Given the description of an element on the screen output the (x, y) to click on. 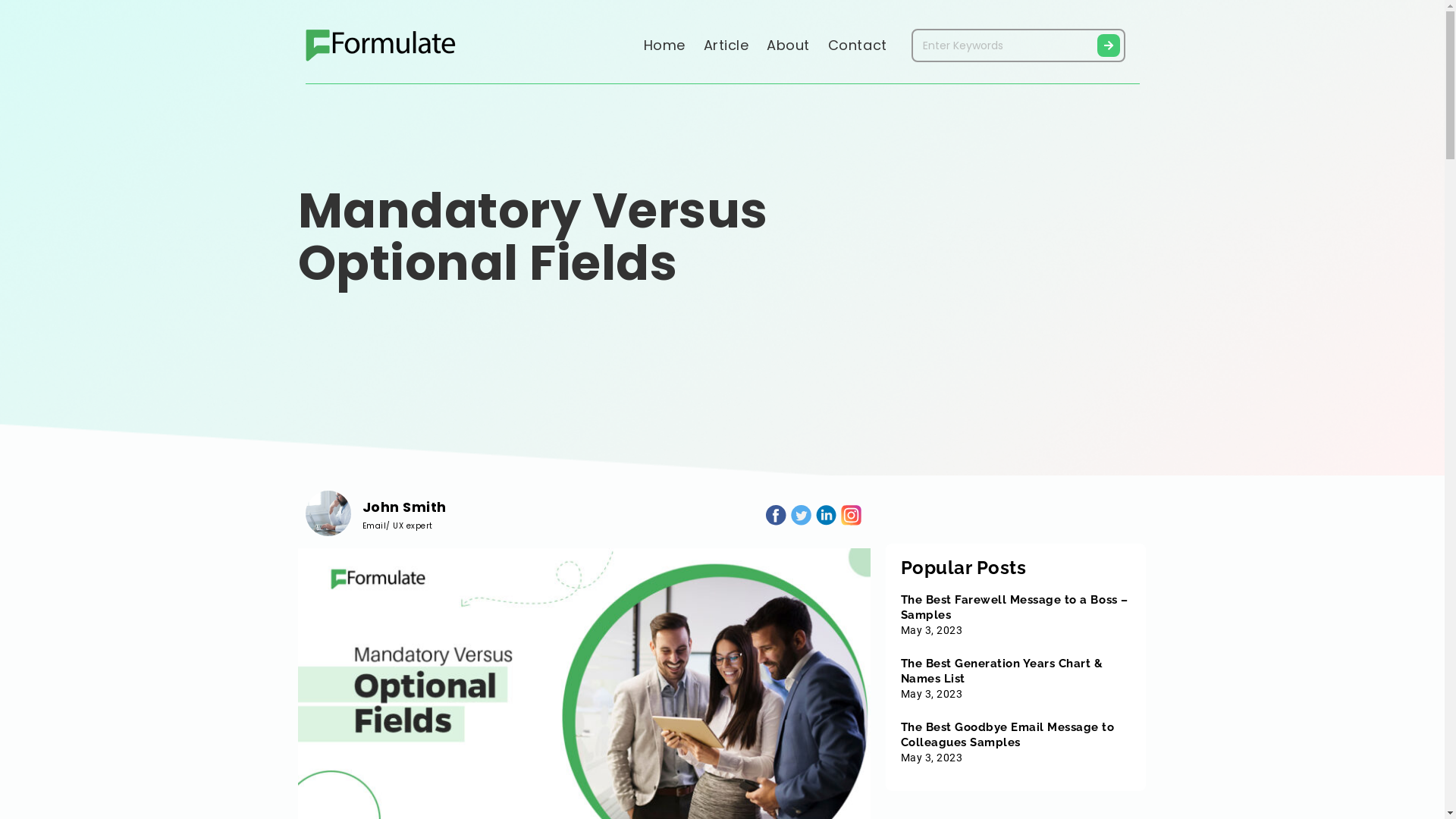
Article Element type: text (726, 45)
Search Element type: hover (1108, 45)
Contact Element type: text (857, 45)
The Best Generation Years Chart & Names List Element type: text (1001, 670)
Search Element type: hover (1003, 45)
About Element type: text (788, 45)
Home Element type: text (664, 45)
The Best Goodbye Email Message to Colleagues Samples Element type: text (1007, 734)
